Given the description of an element on the screen output the (x, y) to click on. 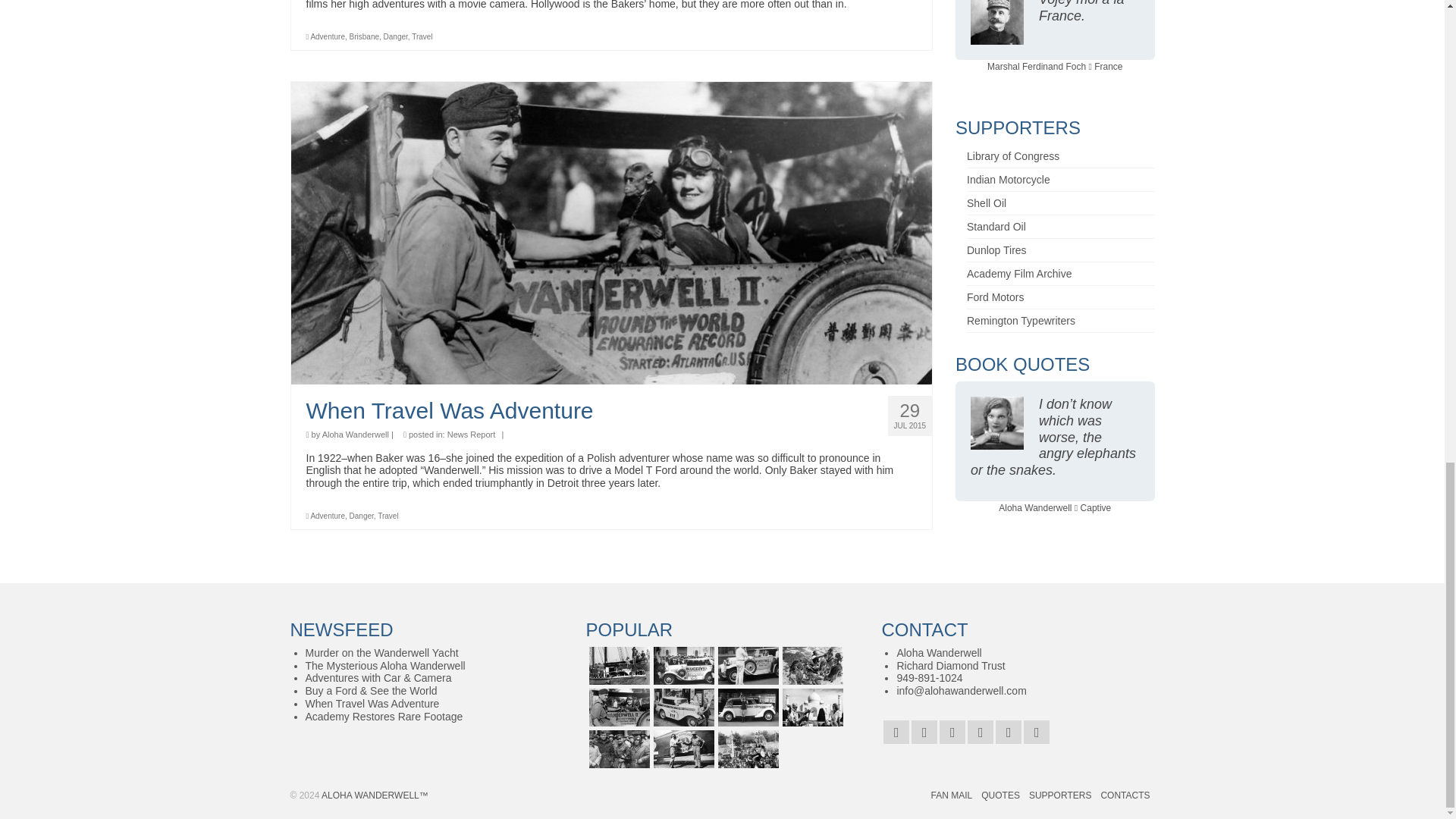
Brisbane (363, 36)
News Report (471, 433)
Adventure (327, 36)
Danger (395, 36)
Danger (361, 515)
Travel (422, 36)
When Travel Was Adventure (611, 410)
Aloha Wanderwell (354, 433)
Adventure (327, 515)
